Given the description of an element on the screen output the (x, y) to click on. 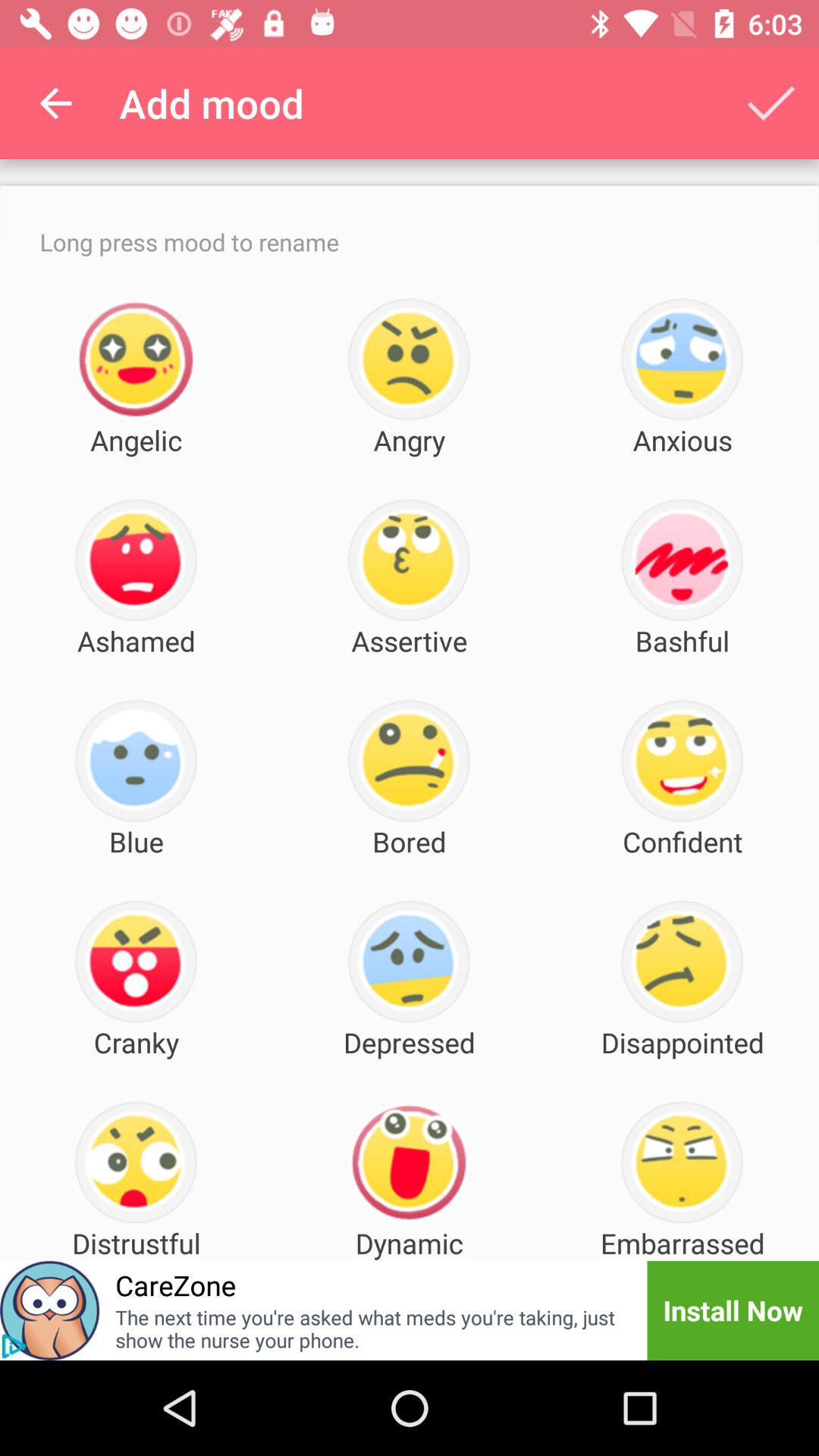
choose the item next to install now icon (371, 1329)
